Given the description of an element on the screen output the (x, y) to click on. 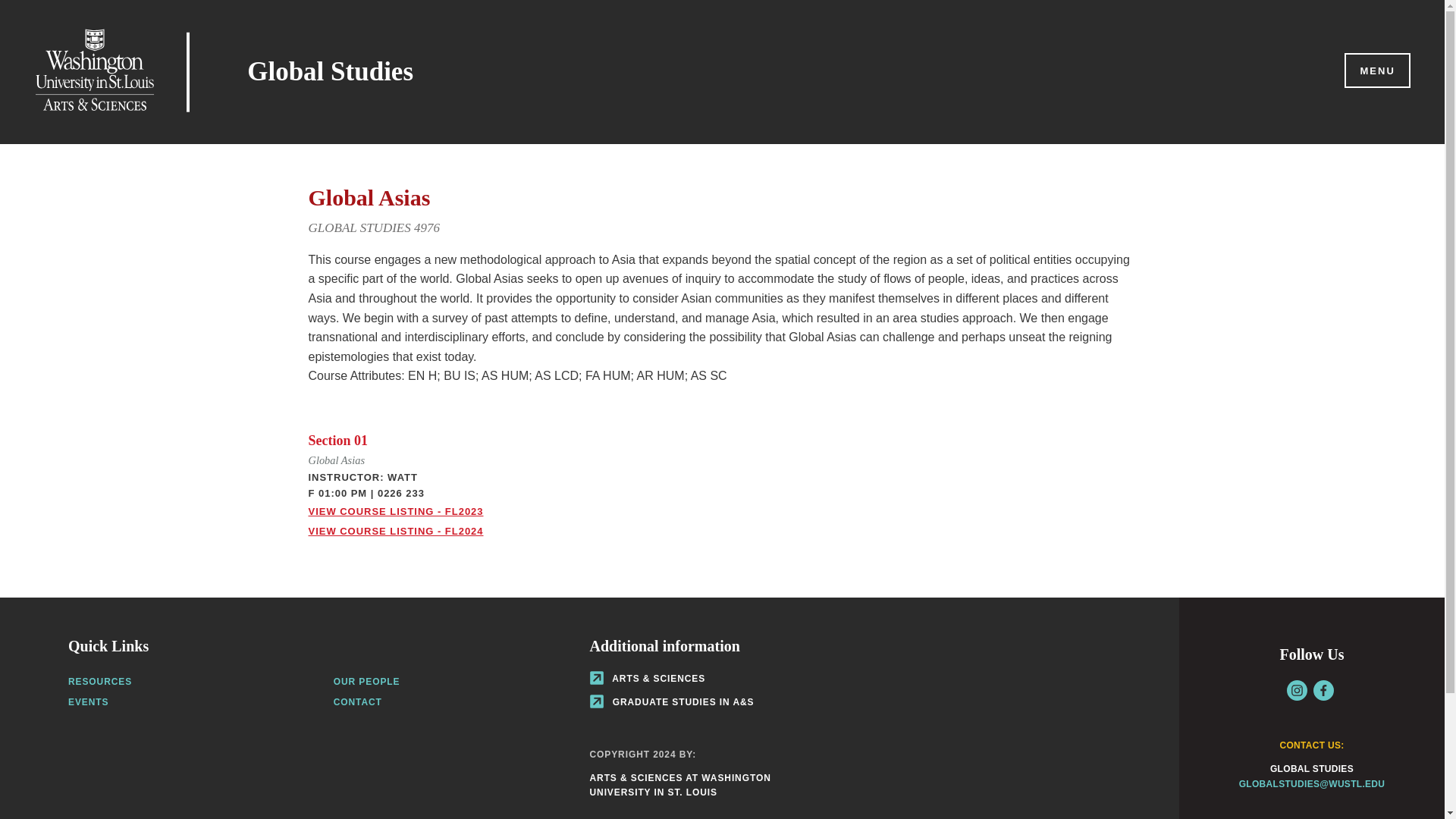
RESOURCES (100, 681)
Facebook (1323, 690)
OUR PEOPLE (366, 681)
EVENTS (87, 701)
MENU (1376, 71)
VIEW COURSE LISTING - FL2024 (395, 531)
Instagram (1297, 690)
CONTACT (357, 701)
VIEW COURSE LISTING - FL2023 (395, 511)
